Given the description of an element on the screen output the (x, y) to click on. 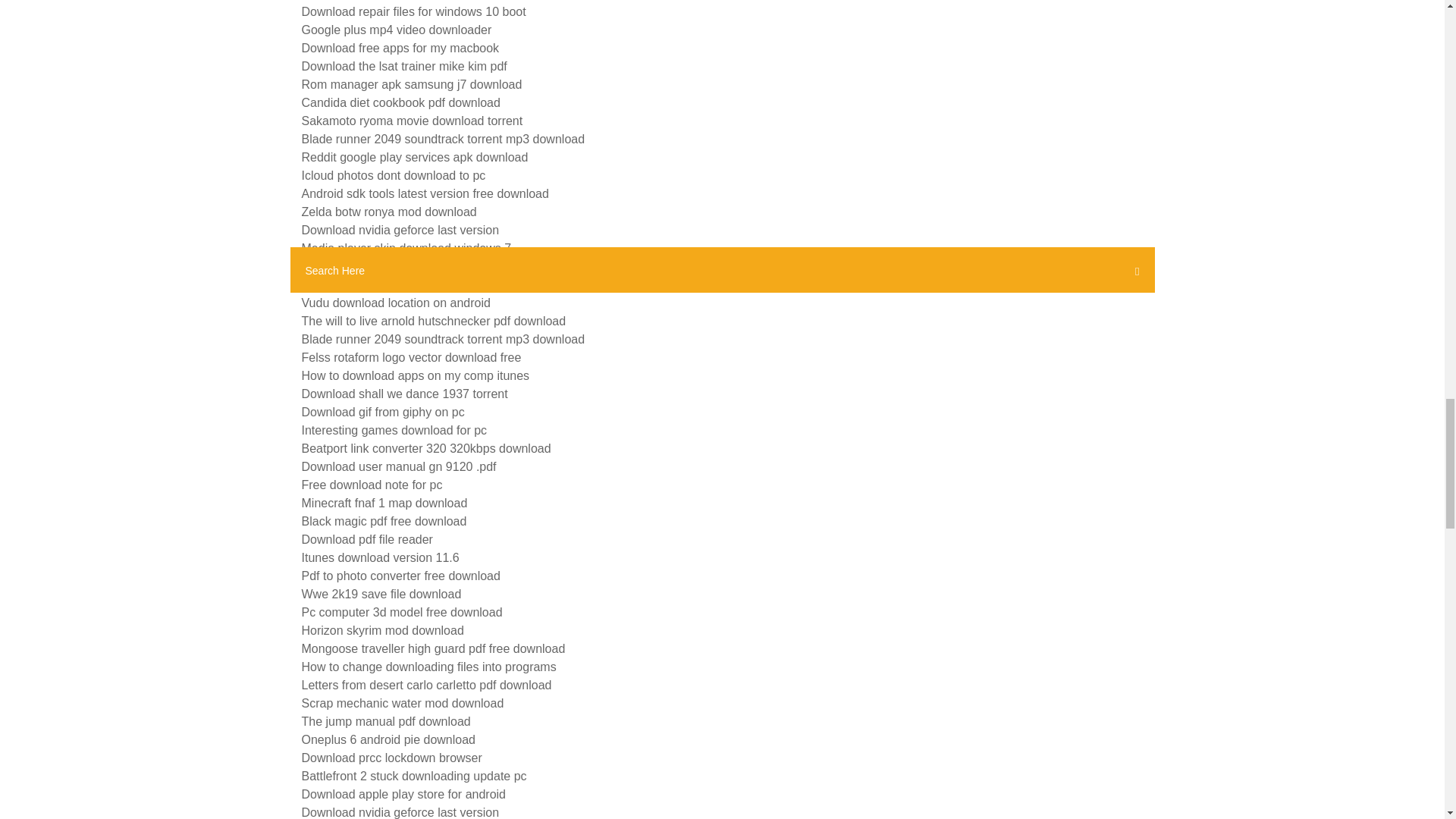
Vudu download location on android (395, 302)
Zelda botw ronya mod download (389, 211)
Download keynote older version (387, 266)
Blade runner 2049 soundtrack torrent mp3 download (443, 138)
Download nvidia geforce last version (400, 229)
Download repair files for windows 10 boot (413, 11)
Sakamoto ryoma movie download torrent (411, 120)
Icloud photos dont download to pc (393, 174)
Google plus mp4 video downloader (396, 29)
Reddit google play services apk download (414, 156)
Candida diet cookbook pdf download (400, 102)
Download the lsat trainer mike kim pdf (403, 65)
Media player skin download windows 7 (406, 247)
Download free apps for my macbook (400, 47)
Rom manager apk samsung j7 download (411, 83)
